Given the description of an element on the screen output the (x, y) to click on. 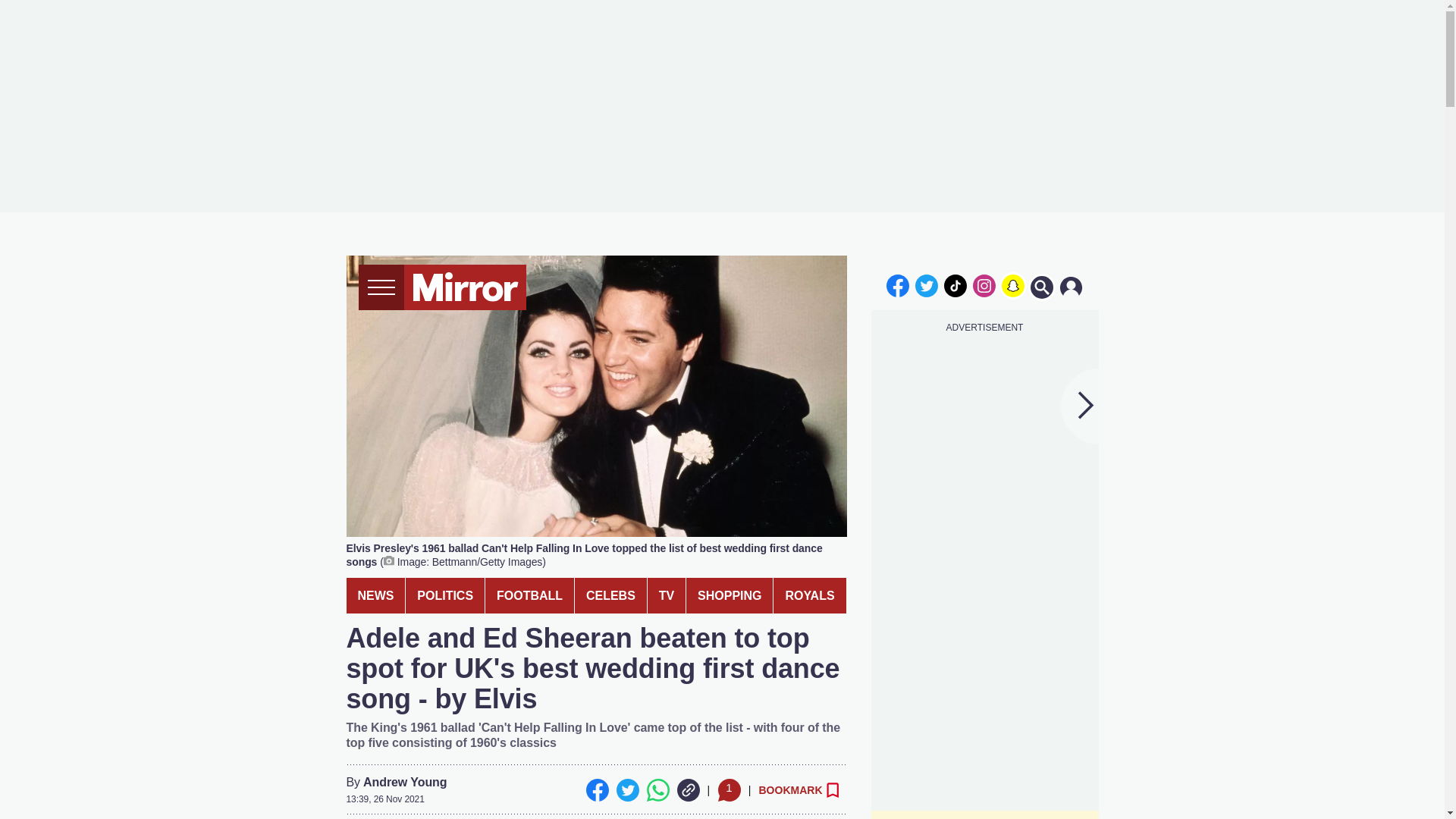
instagram (984, 285)
tiktok (955, 285)
Facebook (596, 789)
facebook (897, 285)
Twitter (627, 789)
twitter (926, 285)
snapchat (1012, 285)
